Given the description of an element on the screen output the (x, y) to click on. 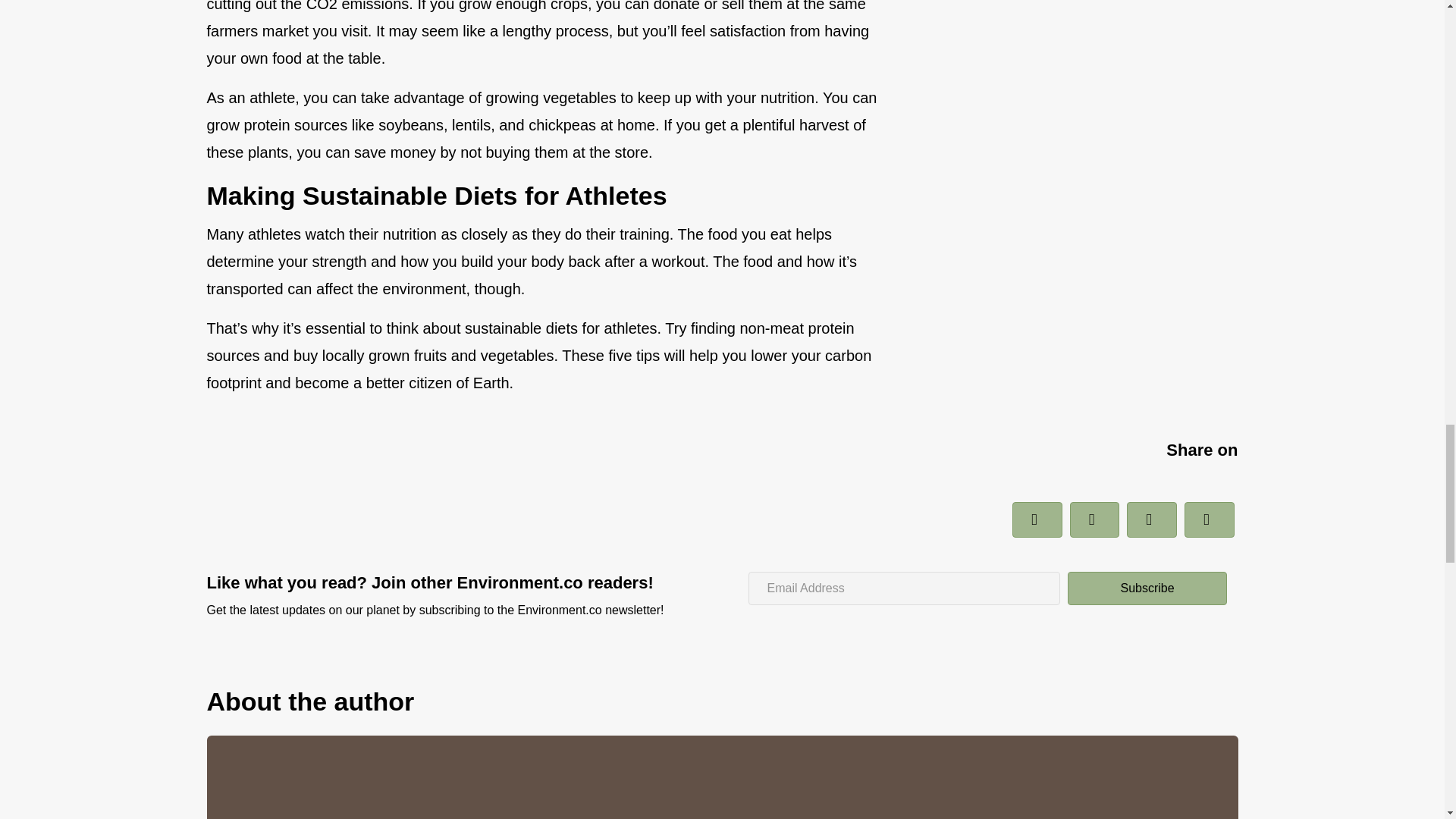
Subscribe (1147, 588)
